Given the description of an element on the screen output the (x, y) to click on. 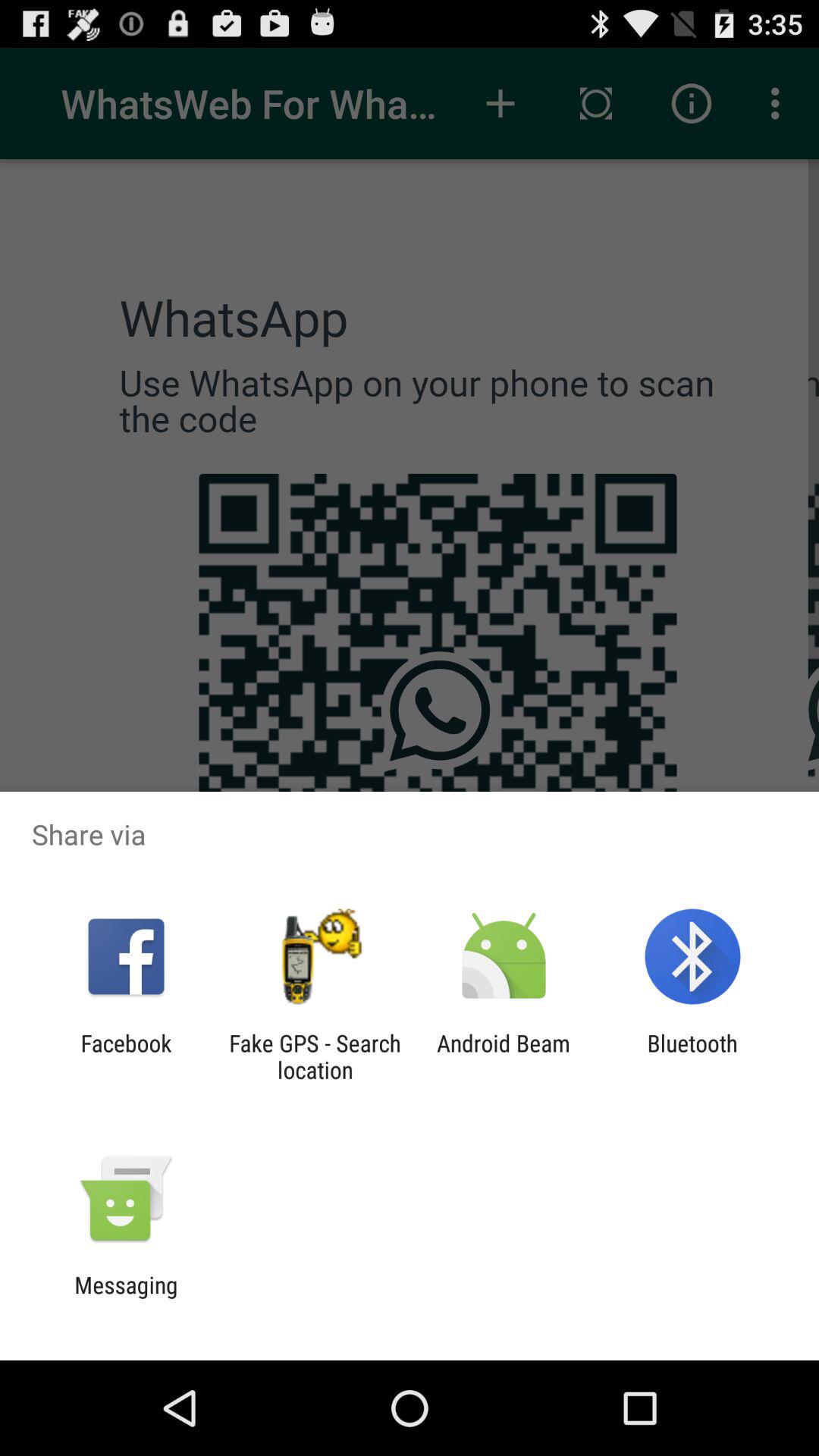
choose app to the left of the bluetooth icon (503, 1056)
